Given the description of an element on the screen output the (x, y) to click on. 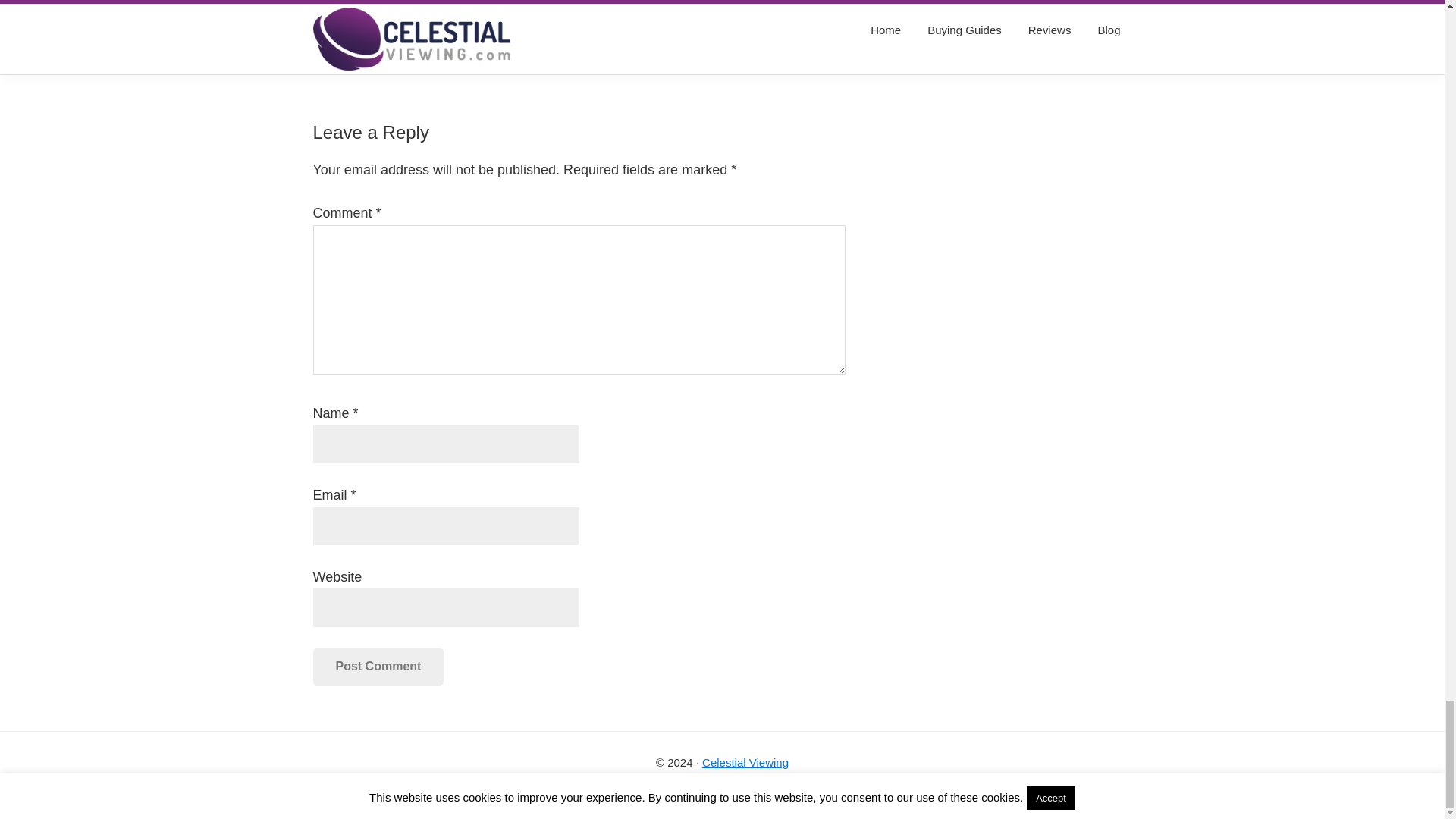
Telescopes (522, 65)
Telescope Reviews (433, 65)
Post Comment (378, 666)
Find it on Amazon (588, 7)
